Given the description of an element on the screen output the (x, y) to click on. 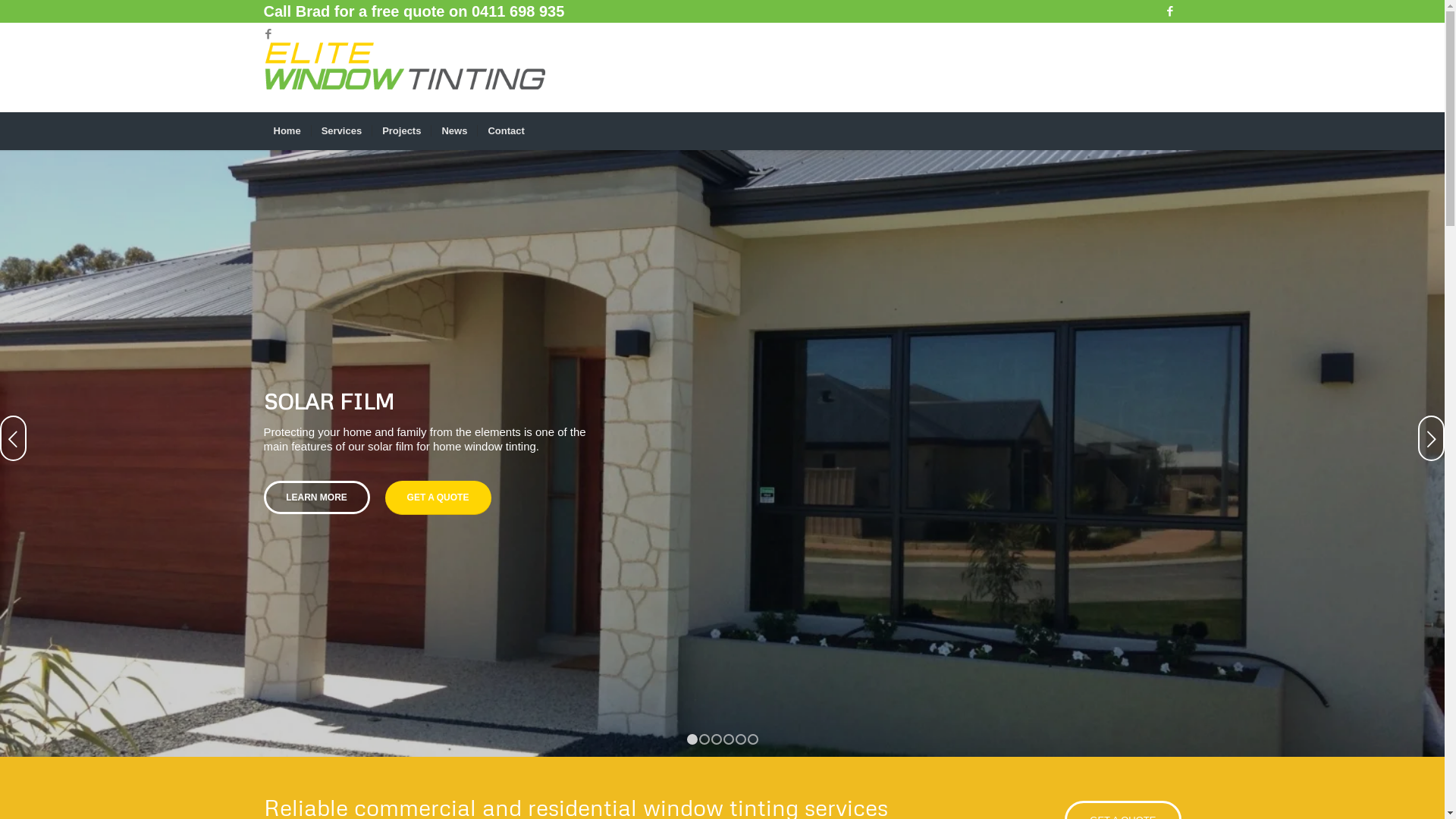
IMG_1197 Element type: hover (722, 453)
3 Element type: text (716, 739)
Previous Element type: text (13, 438)
LEARN MORE Element type: text (316, 497)
Services Element type: text (341, 131)
Contact Element type: text (504, 131)
Next Element type: text (1431, 438)
2 Element type: text (704, 739)
GET A QUOTE Element type: text (438, 497)
Facebook Element type: hover (1169, 11)
4 Element type: text (728, 739)
eliteLogo2 Element type: hover (405, 67)
Facebook Element type: hover (267, 33)
1 Element type: text (692, 739)
6 Element type: text (752, 739)
Projects Element type: text (400, 131)
News Element type: text (453, 131)
Home Element type: text (286, 131)
5 Element type: text (740, 739)
